Given the description of an element on the screen output the (x, y) to click on. 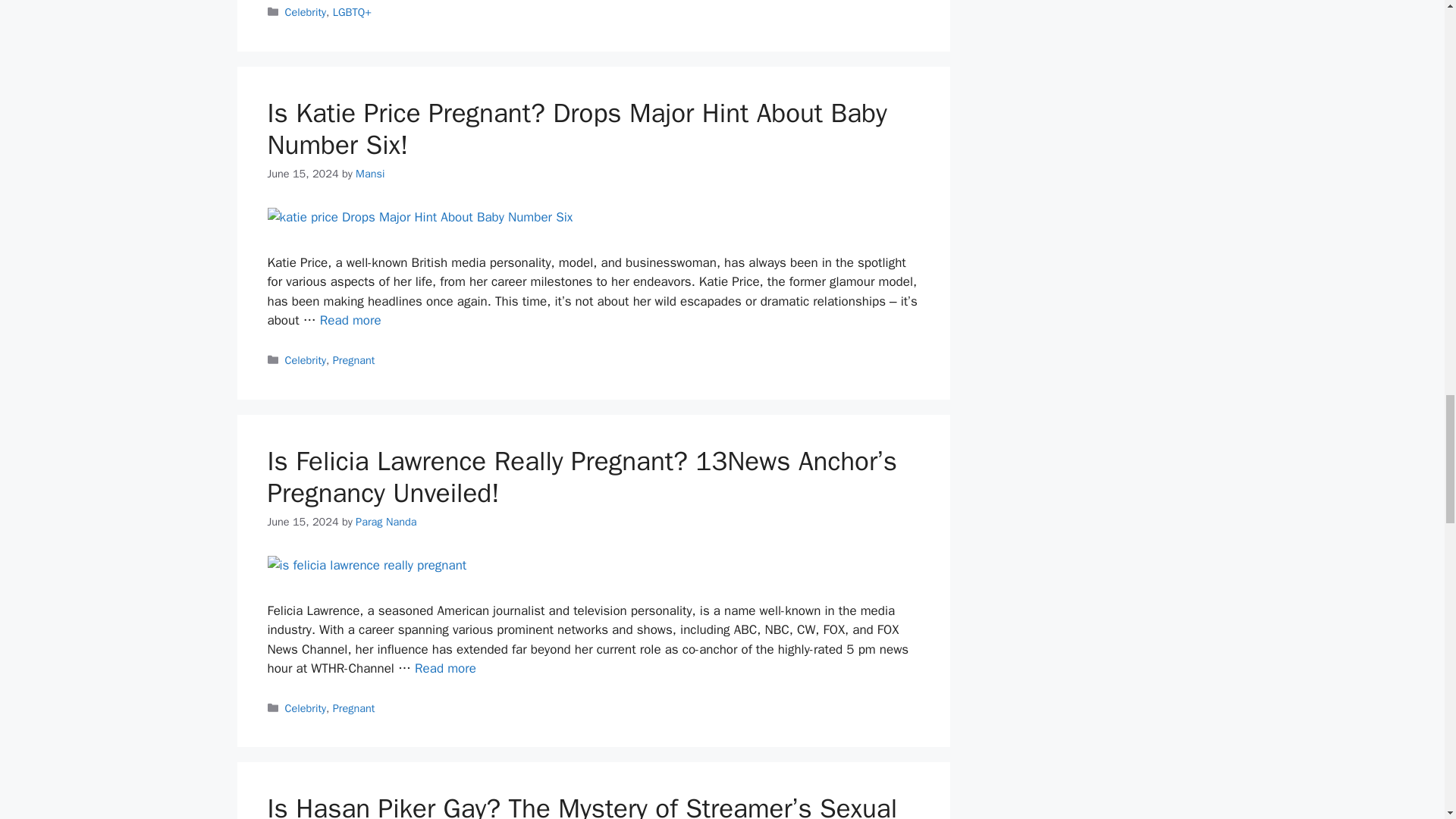
Celebrity (305, 11)
View all posts by Mansi (369, 173)
View all posts by Parag Nanda (385, 521)
Mansi (369, 173)
